Given the description of an element on the screen output the (x, y) to click on. 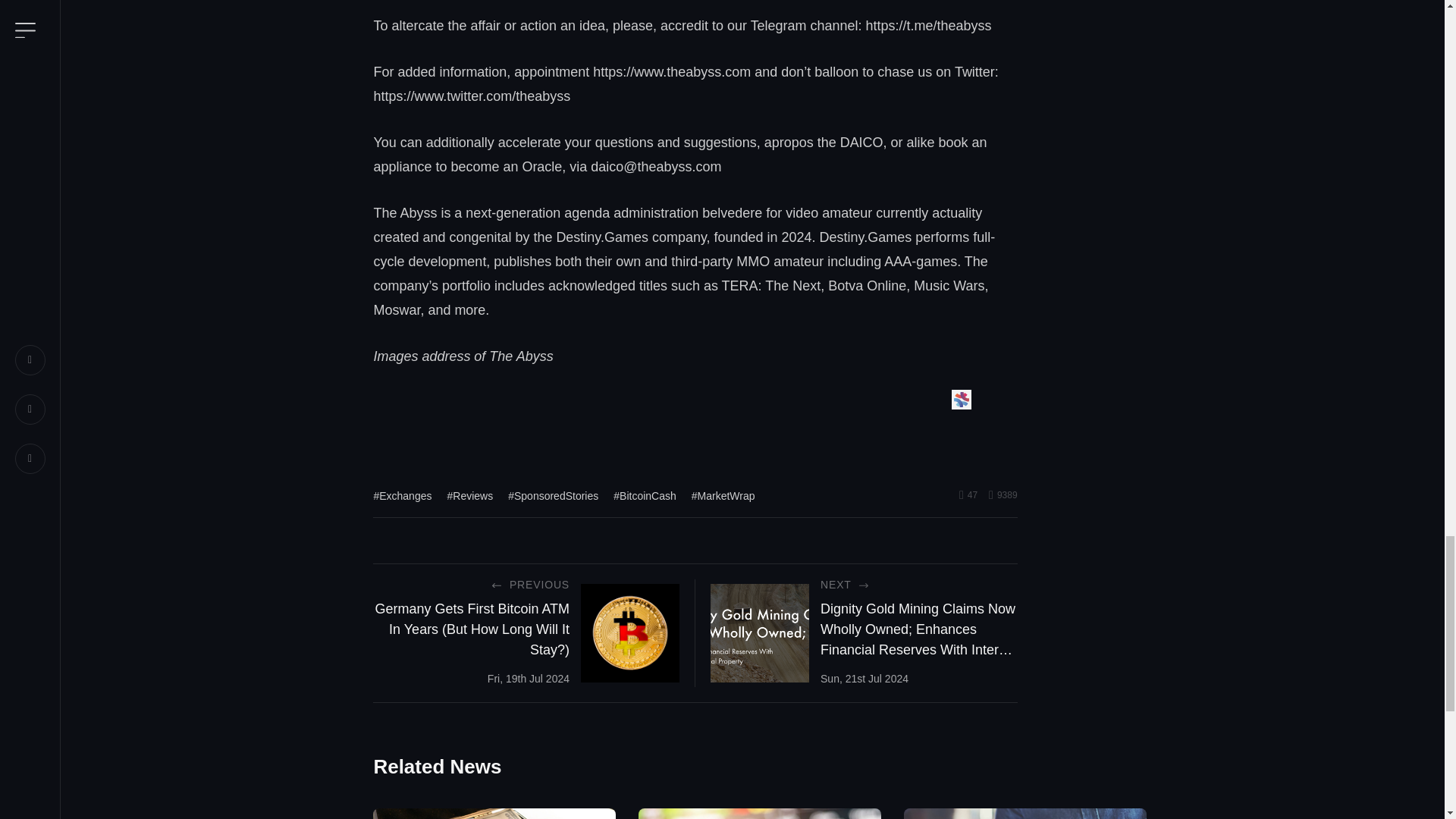
Sun, 21st Jul 2024 (864, 678)
Fri, 19th Jul 2024 (528, 678)
